Given the description of an element on the screen output the (x, y) to click on. 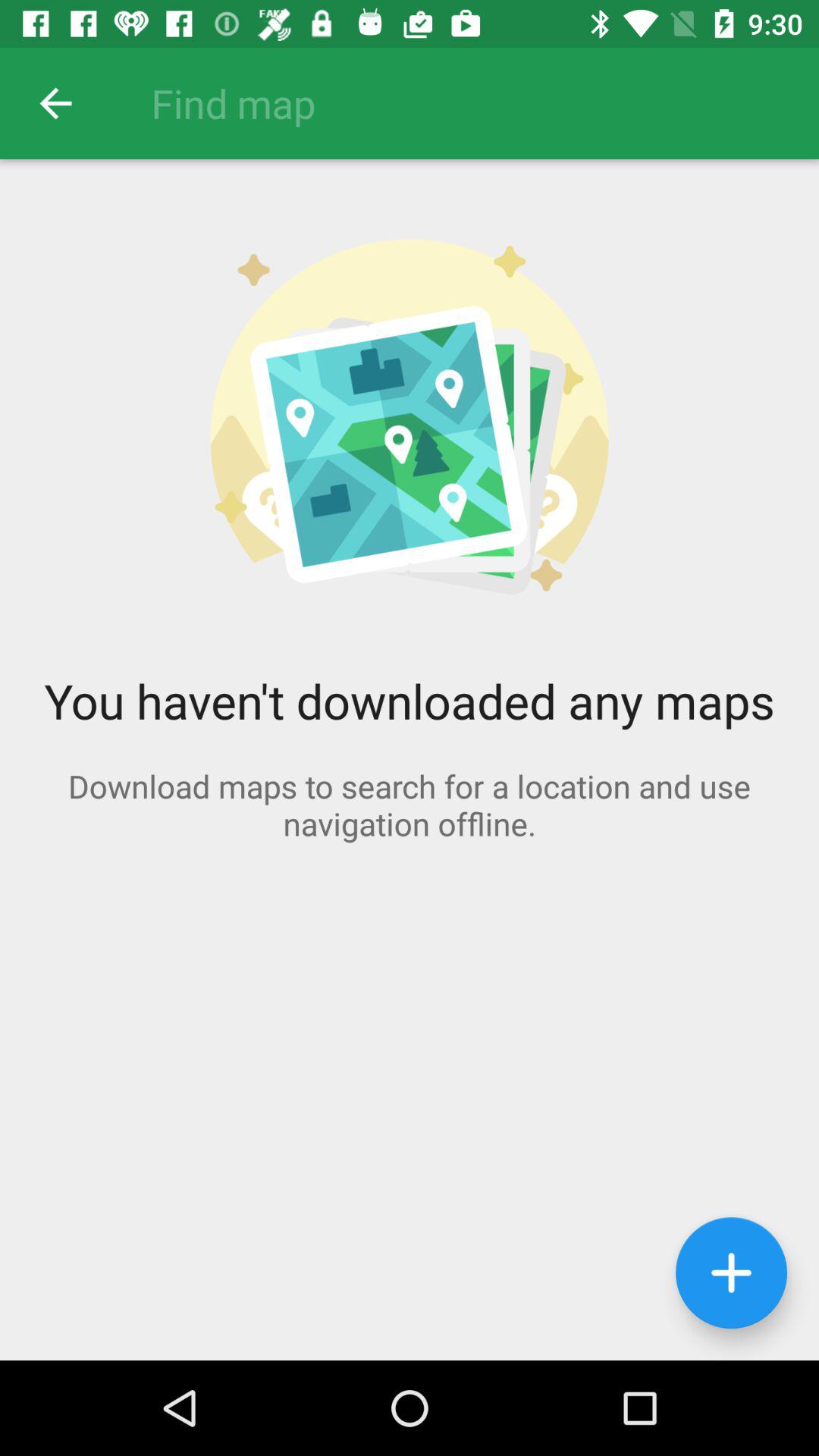
click on the icon at the bottom right corner of the page (731, 1273)
select the image on the page (409, 421)
